Given the description of an element on the screen output the (x, y) to click on. 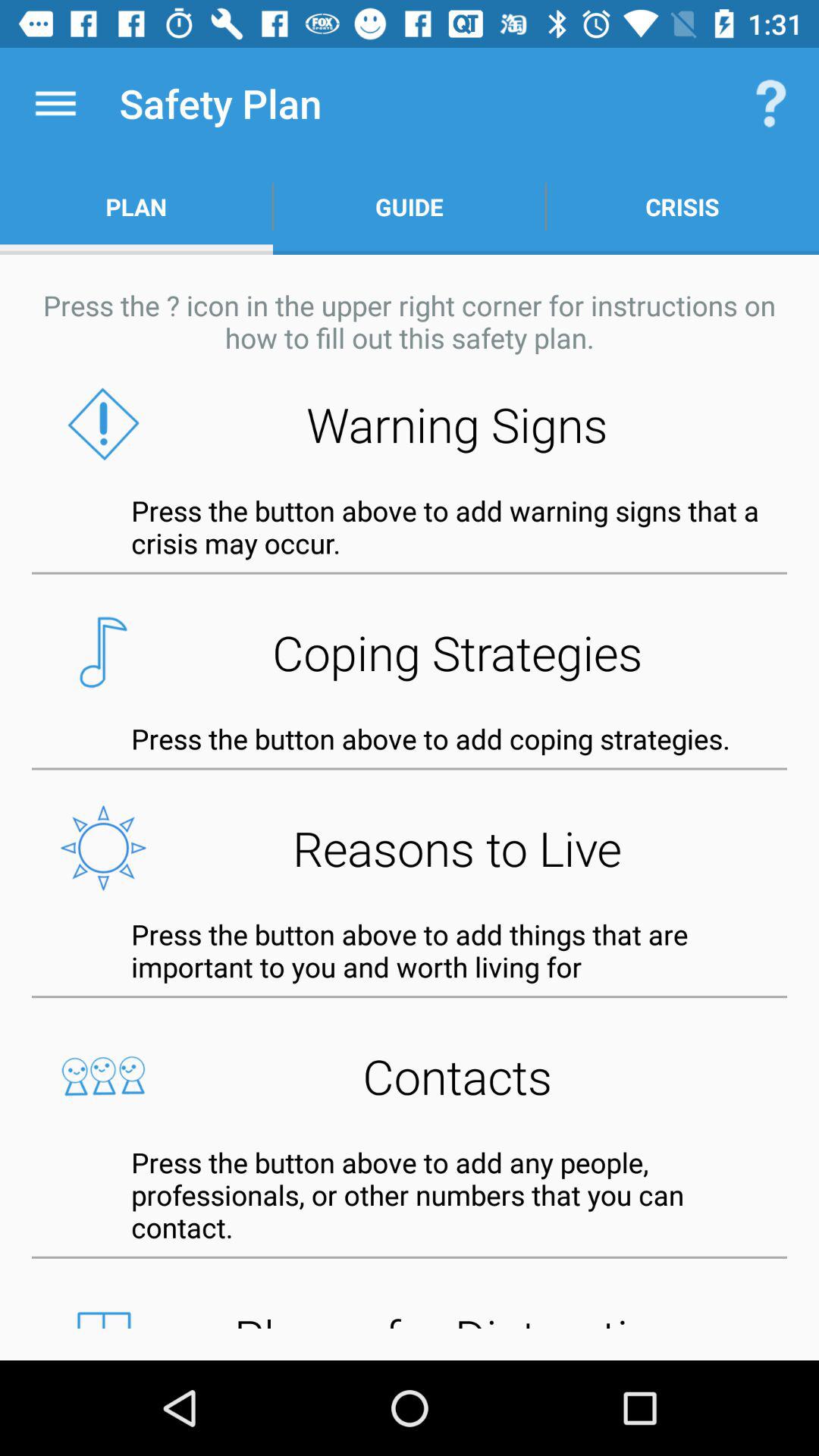
tap the app to the left of the safety plan (55, 103)
